Given the description of an element on the screen output the (x, y) to click on. 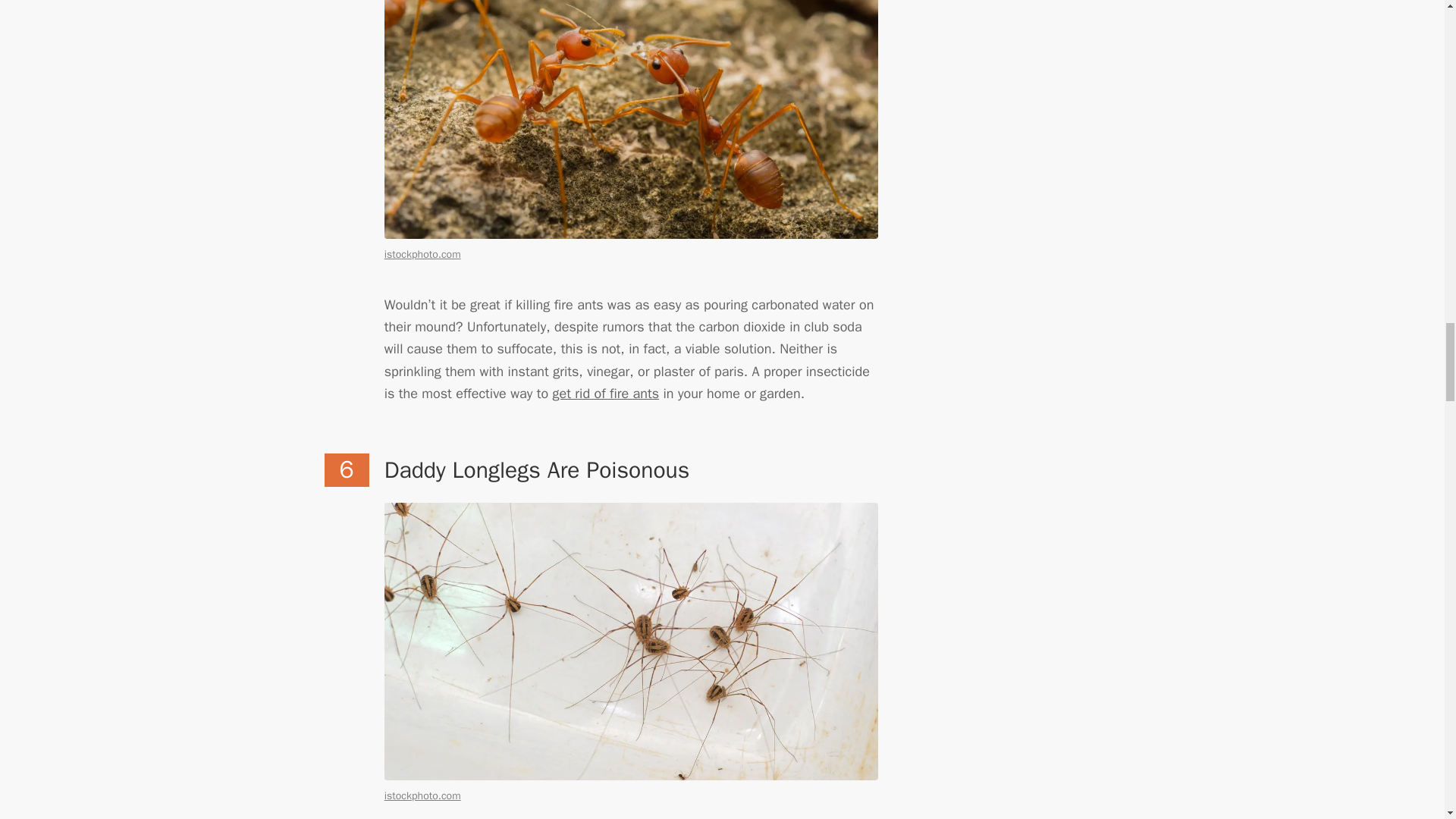
istockphoto.com (422, 795)
istockphoto.com (422, 254)
